Given the description of an element on the screen output the (x, y) to click on. 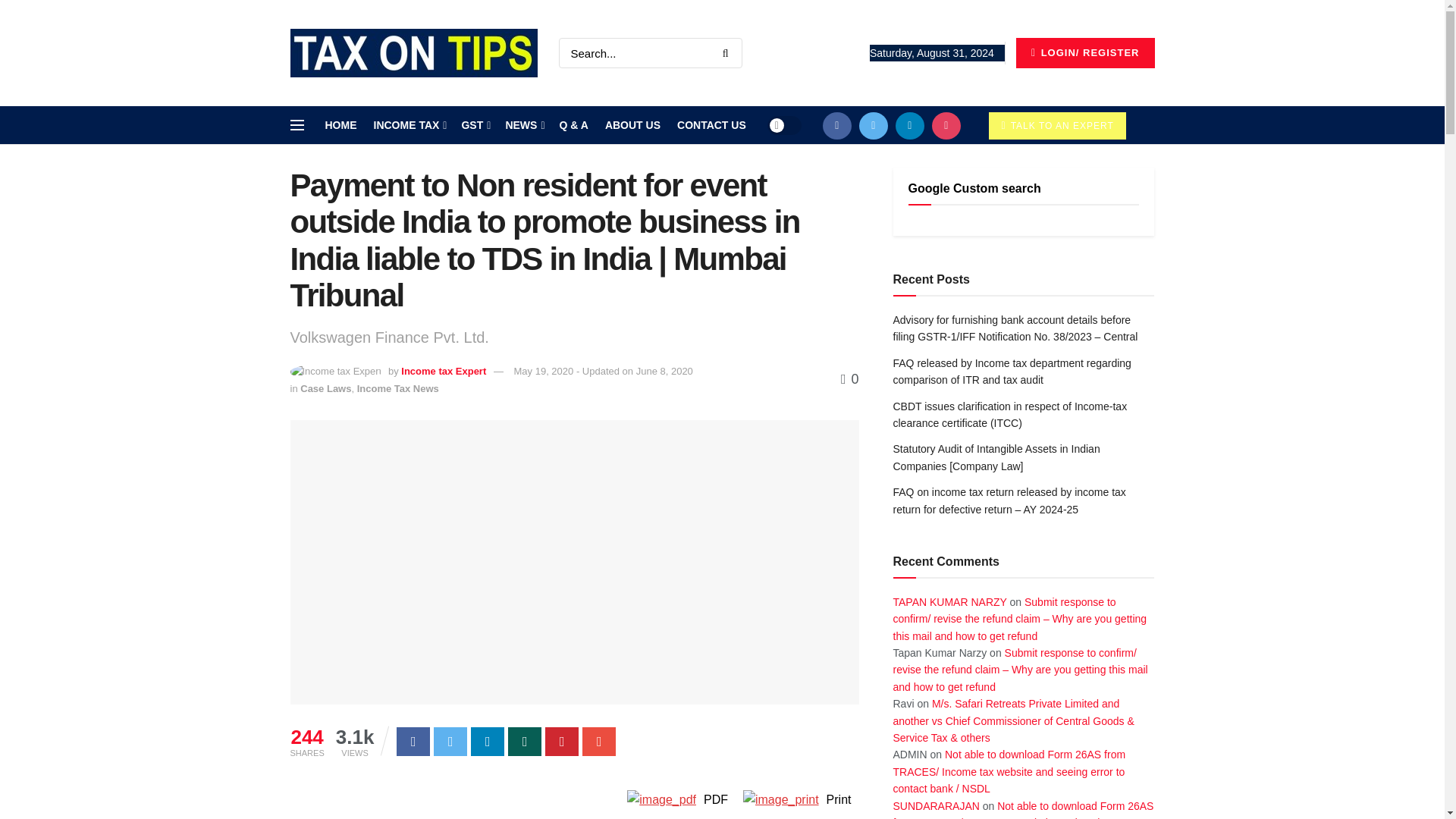
ABOUT US (633, 124)
Print Content (780, 800)
CONTACT US (711, 124)
GST (474, 124)
INCOME TAX (408, 124)
NEWS (523, 124)
HOME (340, 124)
TALK TO AN EXPERT (1056, 125)
View PDF (661, 800)
